Given the description of an element on the screen output the (x, y) to click on. 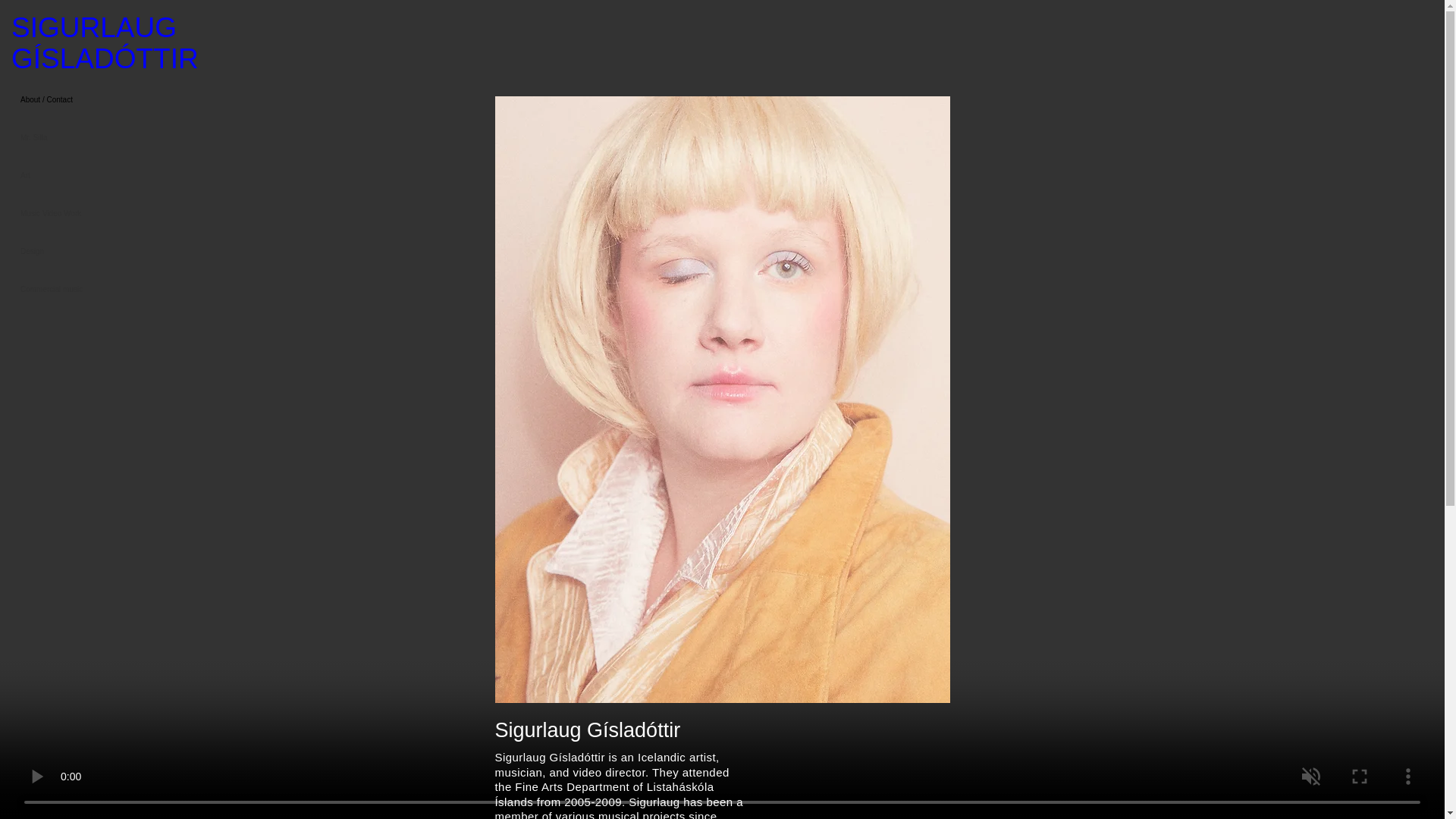
Mr. Silla (116, 137)
Music Video Work (116, 213)
Art (116, 175)
Commercial music (116, 289)
Design (116, 251)
